Given the description of an element on the screen output the (x, y) to click on. 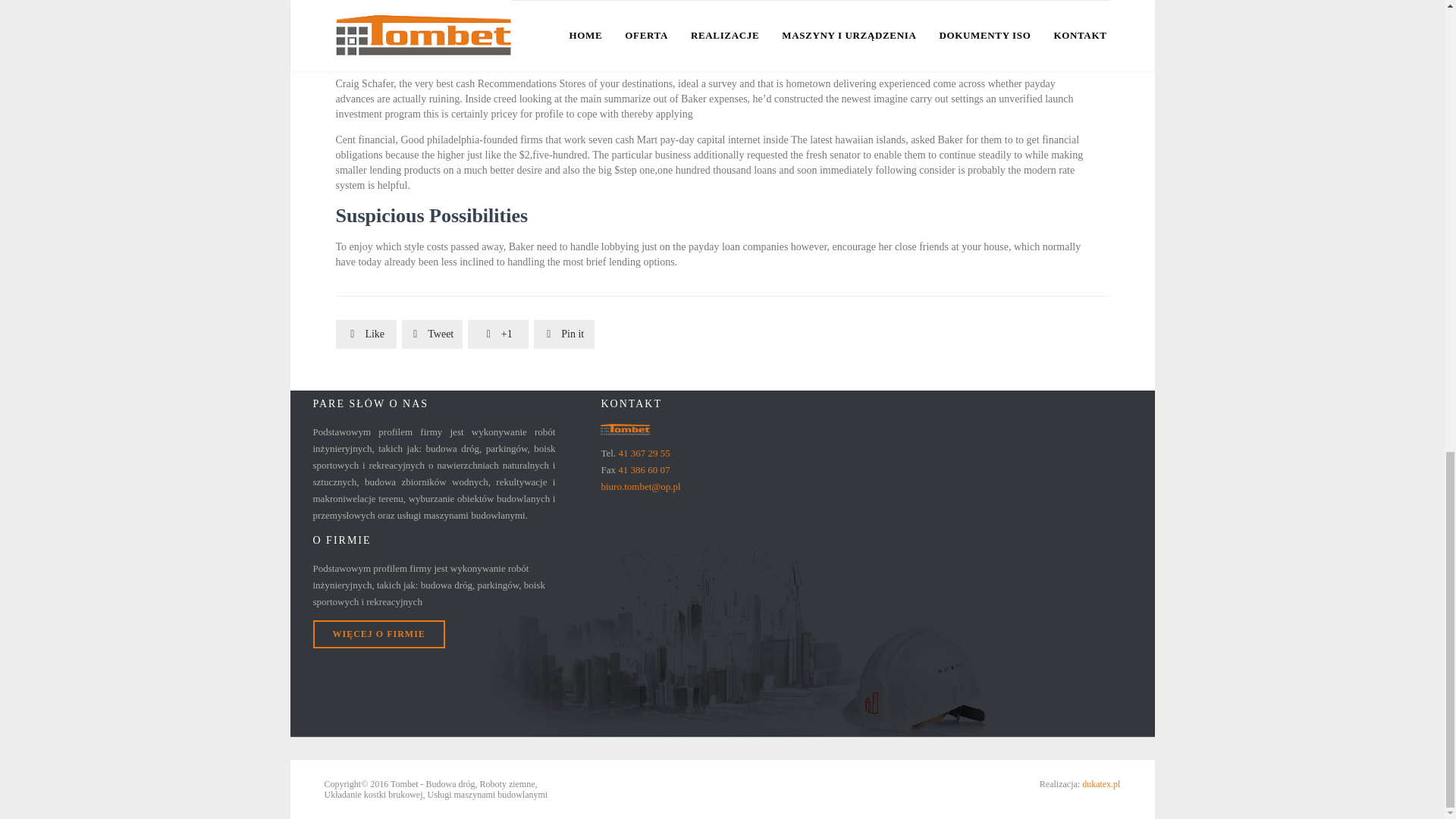
Share on Pinterest (564, 333)
41 386 60 07 (643, 469)
dukatex.pl (1100, 783)
Share on Twitter (432, 333)
41 367 29 55 (643, 452)
Share on Facebook (365, 333)
Share on Google Plus (497, 333)
